Given the description of an element on the screen output the (x, y) to click on. 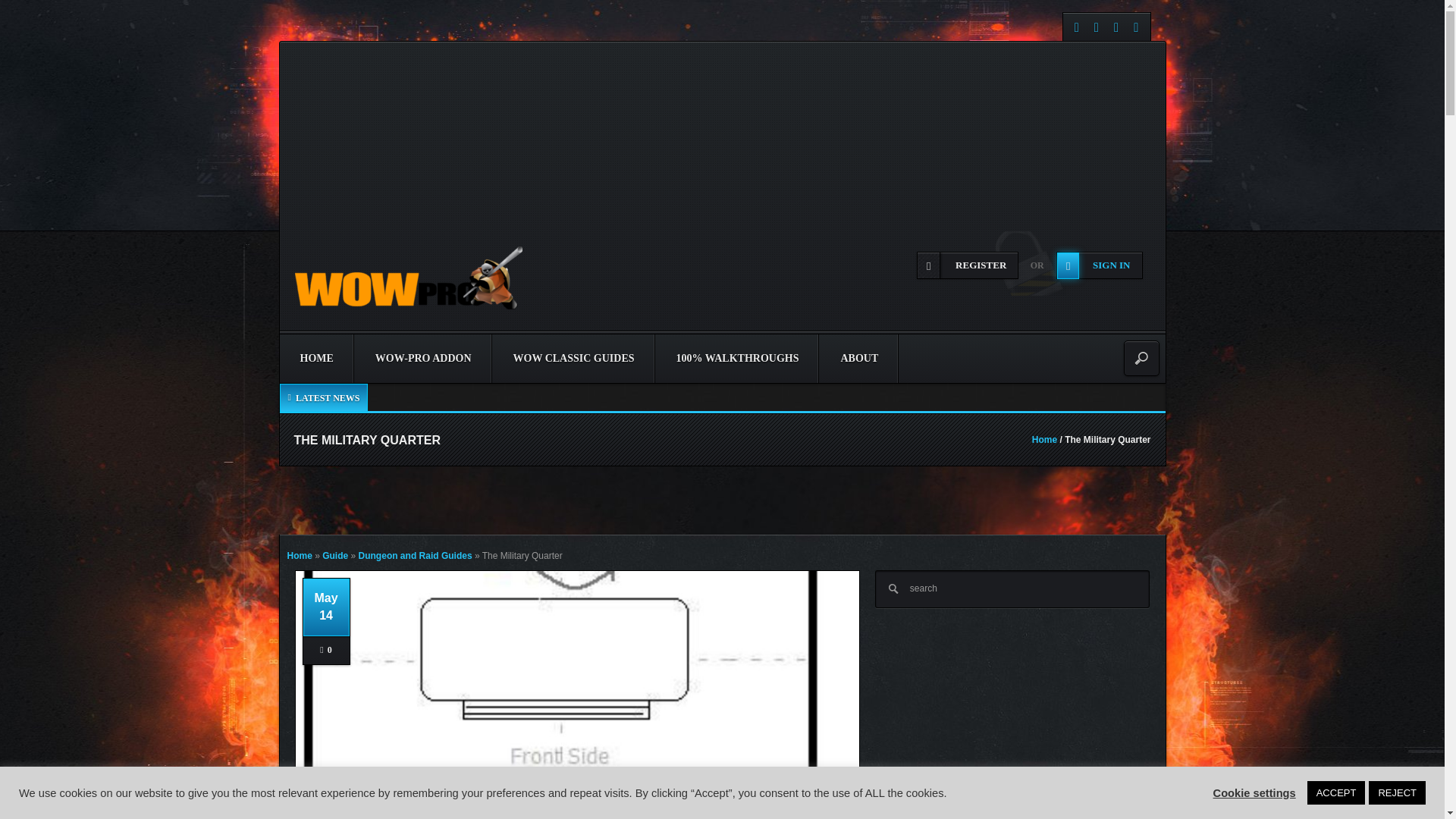
REGISTER (967, 265)
search (1012, 588)
SIGN IN (1099, 265)
WOW CLASSIC GUIDES (574, 358)
Love this (325, 650)
Home (1044, 439)
HOME (316, 358)
Guide (502, 809)
Dungeon and Raid Guides (429, 809)
Guide (334, 555)
